Given the description of an element on the screen output the (x, y) to click on. 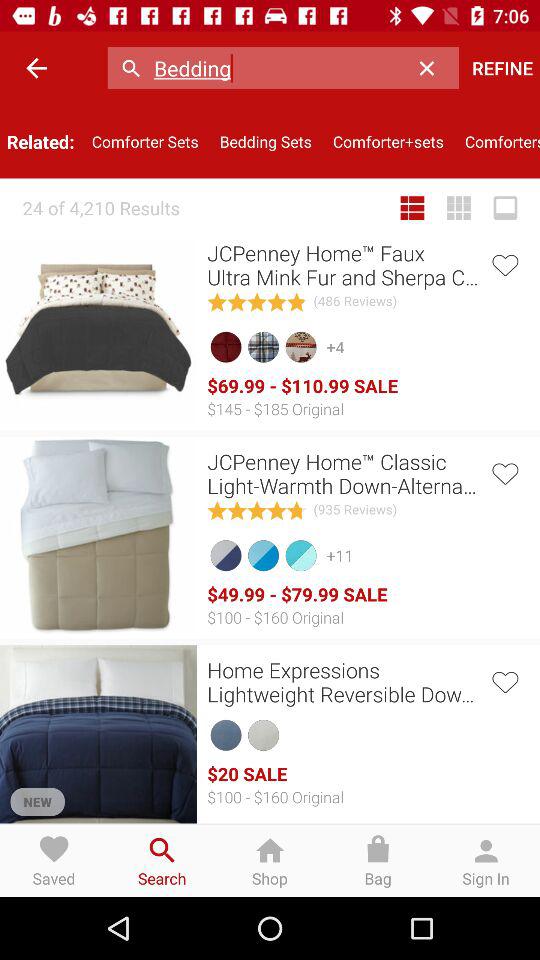
turn on item below the comforter+sets (412, 208)
